Given the description of an element on the screen output the (x, y) to click on. 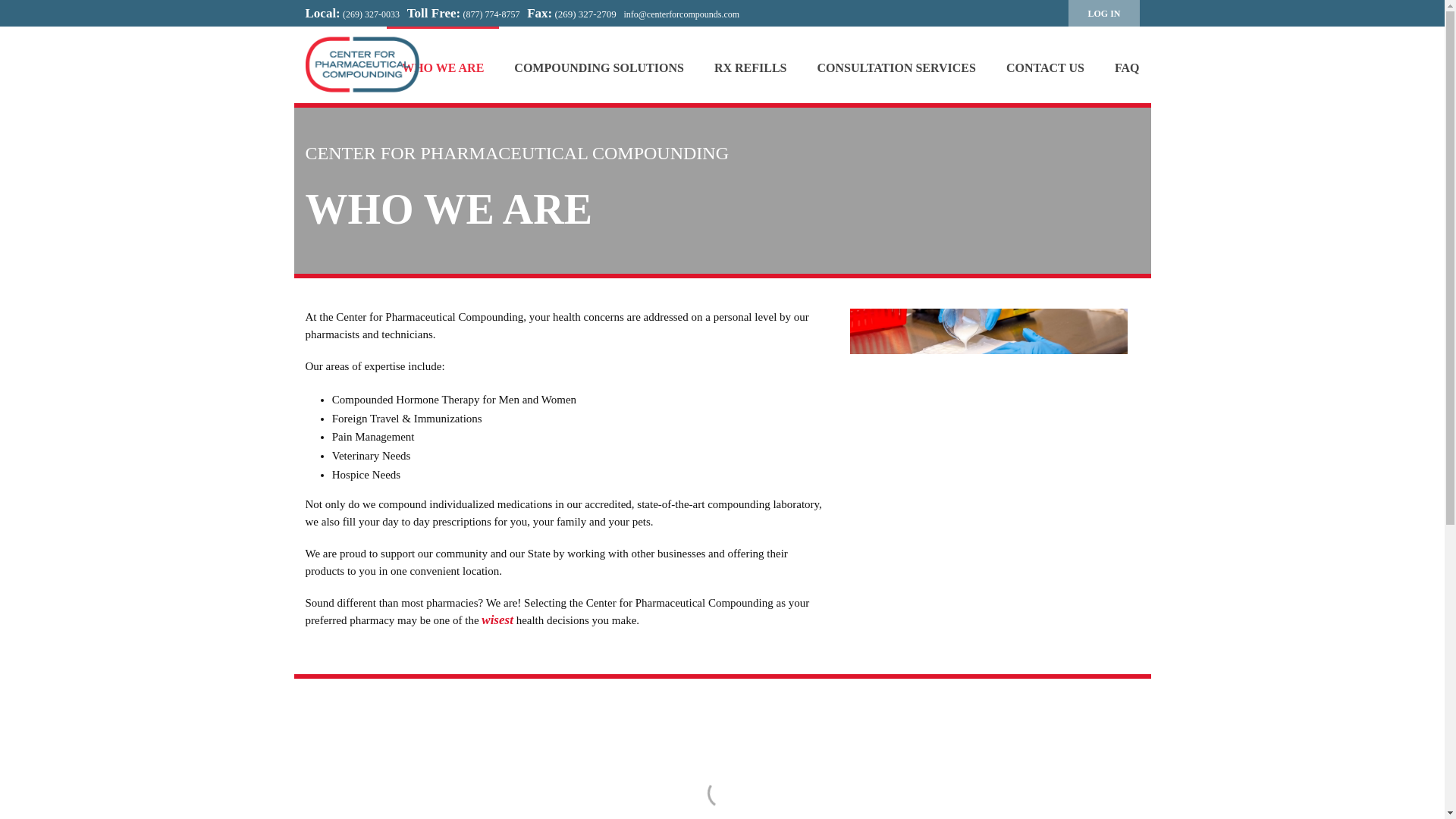
POWERFUL MEDICINE CUSTOMIZED FOR YOU (361, 64)
CONTACT US (1045, 64)
CONSULTATION SERVICES (896, 64)
LOG IN (1103, 13)
WHO WE ARE (443, 64)
COMPOUNDING SOLUTIONS (598, 64)
CONTACT US (1045, 64)
CONSULTATION SERVICES (896, 64)
RX REFILLS (750, 64)
COMPOUNDING SOLUTIONS (598, 64)
WHO WE ARE (443, 64)
RX REFILLS (750, 64)
